Given the description of an element on the screen output the (x, y) to click on. 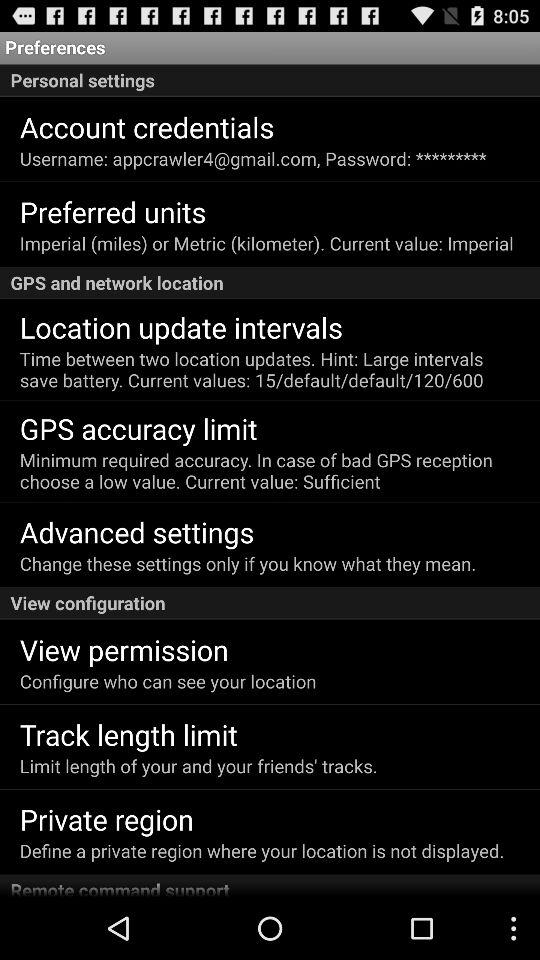
flip until remote command support item (270, 885)
